Given the description of an element on the screen output the (x, y) to click on. 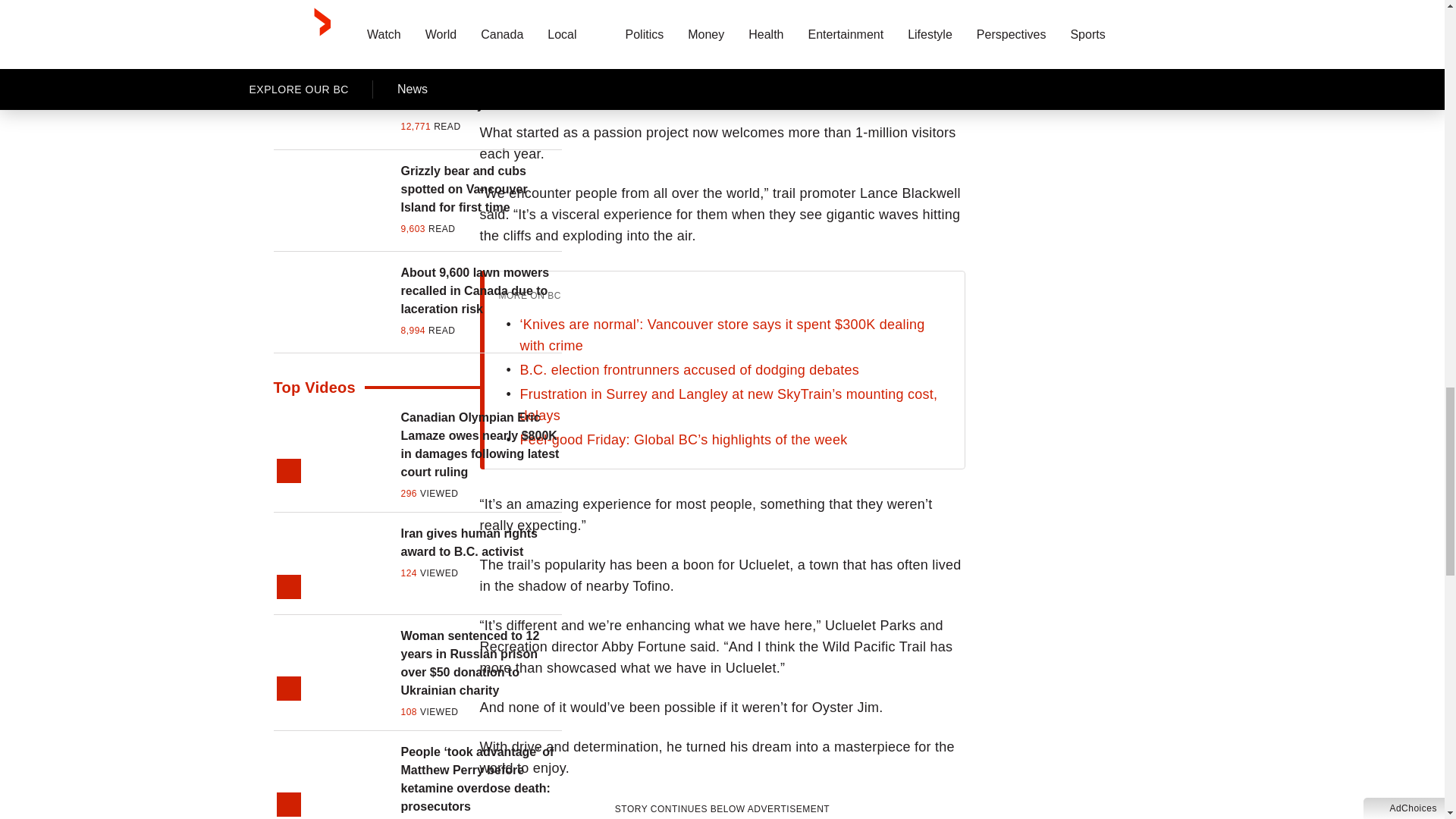
Iran gives human rights award to B.C. activist (480, 542)
